Given the description of an element on the screen output the (x, y) to click on. 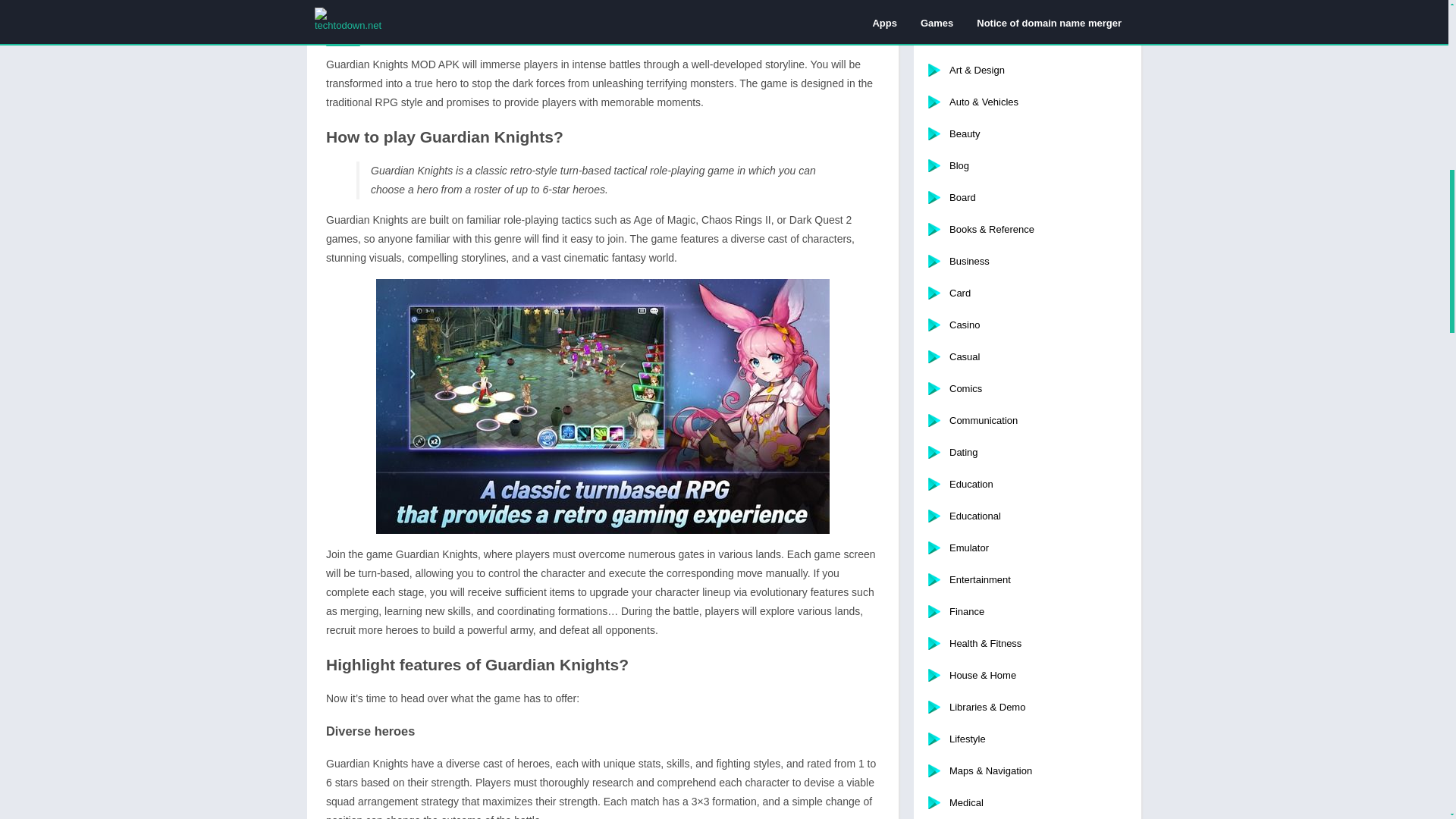
Guardian Knights 2 (602, 406)
